Given the description of an element on the screen output the (x, y) to click on. 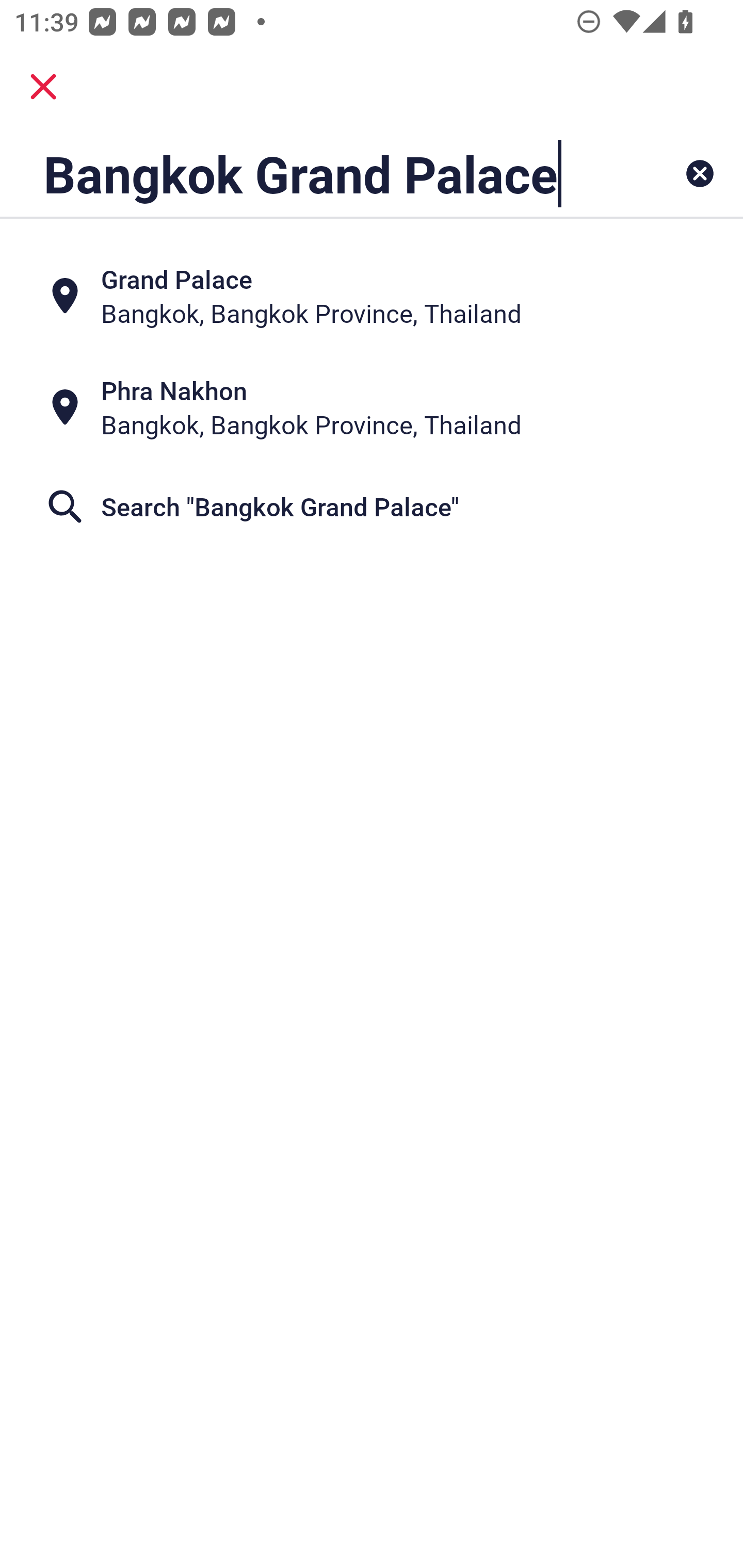
close. (43, 86)
Clear (699, 173)
Bangkok Grand Palace (306, 173)
Grand Palace Bangkok, Bangkok Province, Thailand (371, 295)
Phra Nakhon Bangkok, Bangkok Province, Thailand (371, 406)
Search "Bangkok Grand Palace" (371, 506)
